Given the description of an element on the screen output the (x, y) to click on. 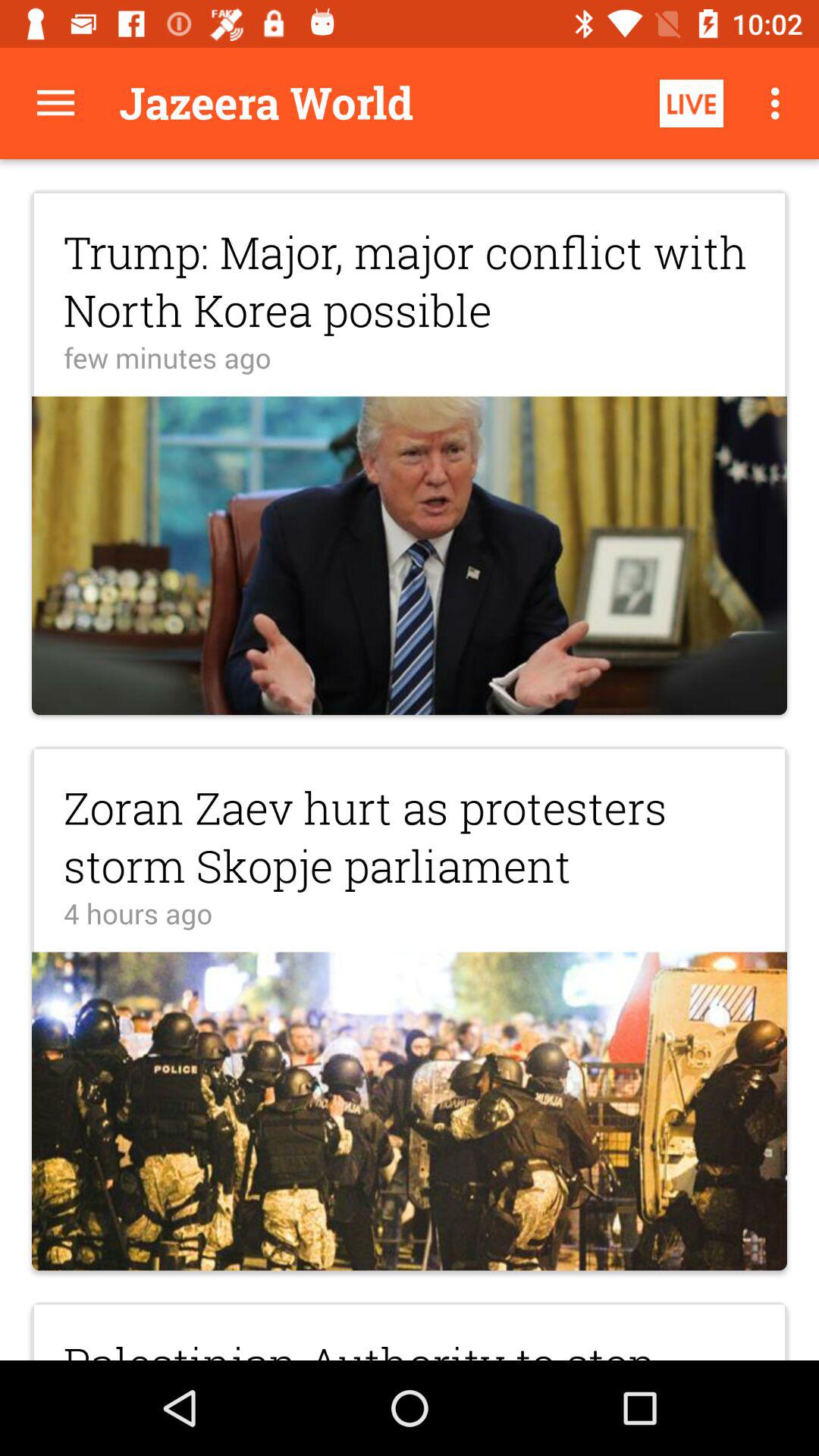
select the icon above the trump major major item (55, 103)
